Given the description of an element on the screen output the (x, y) to click on. 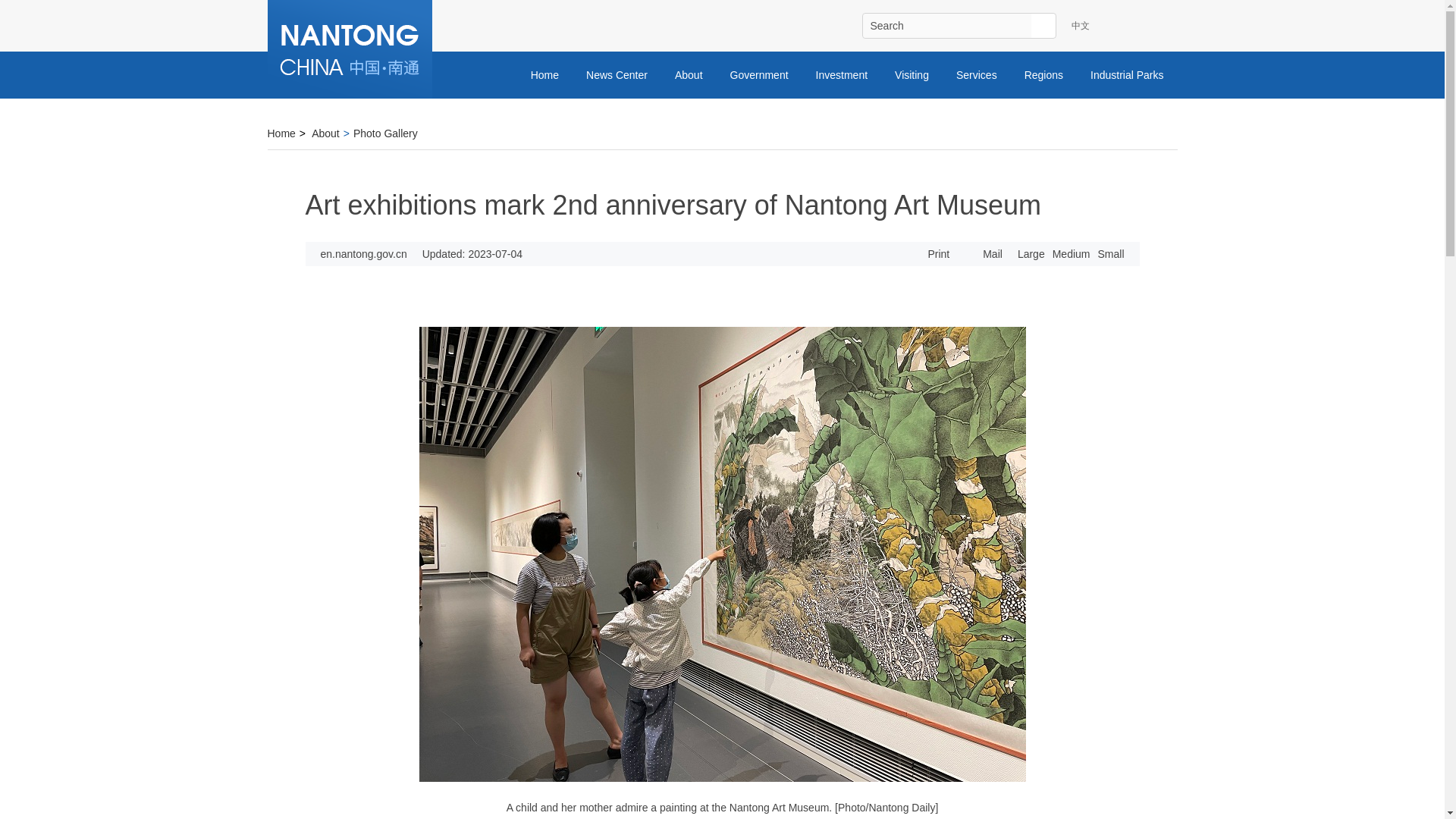
B (1163, 26)
Search (1042, 25)
Regions (1043, 74)
Facebook (1126, 26)
Home (544, 74)
Visiting (911, 74)
News Center (616, 74)
Services (976, 74)
About (688, 74)
Investment (841, 74)
Search (946, 25)
Government (759, 74)
